Given the description of an element on the screen output the (x, y) to click on. 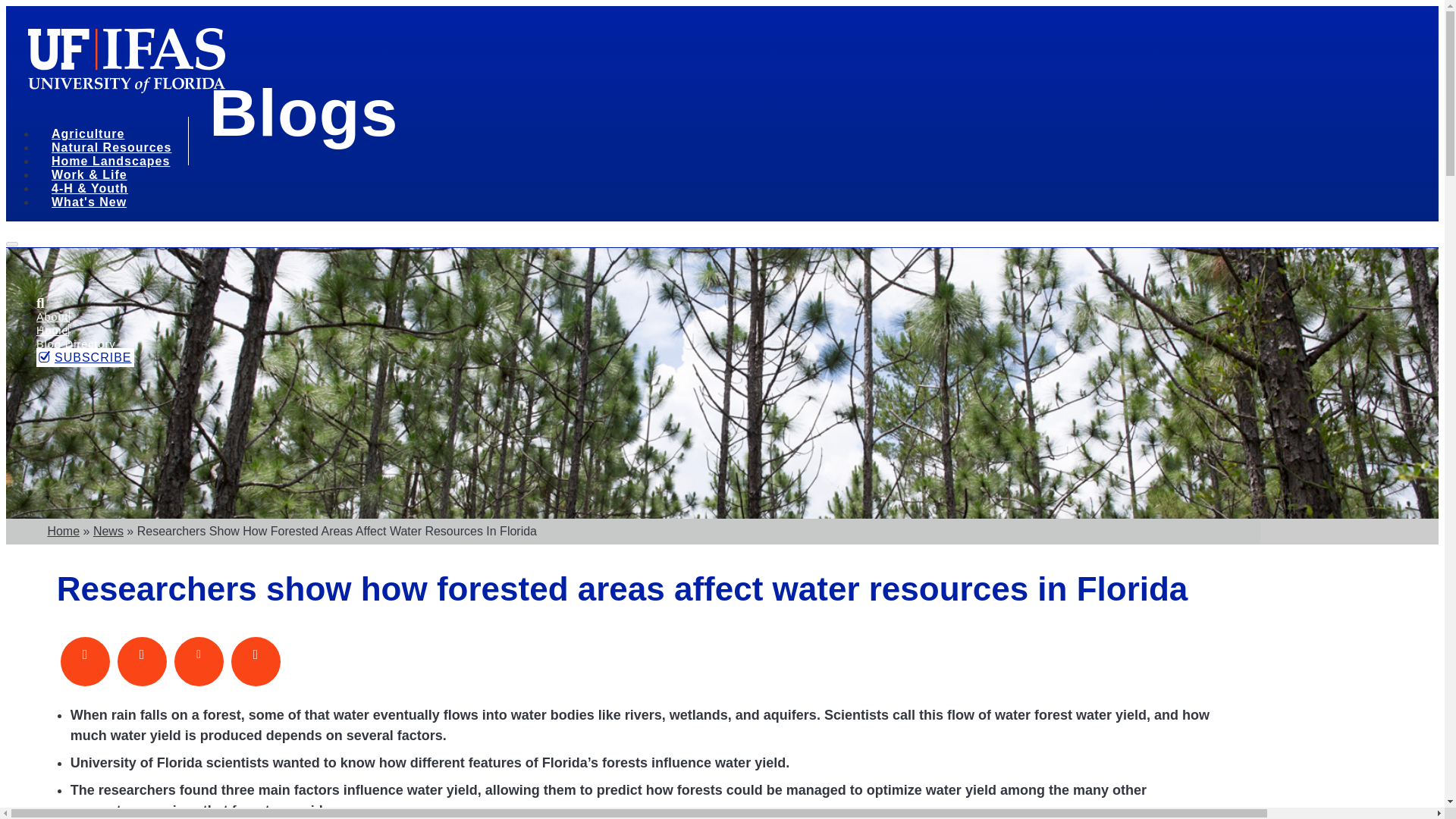
Home Landscapes (115, 162)
Home (52, 330)
About (52, 316)
Natural Resources (116, 149)
Blog Directory (75, 344)
Agriculture (92, 135)
SUBSCRIBE (84, 357)
Blogs (303, 112)
